Given the description of an element on the screen output the (x, y) to click on. 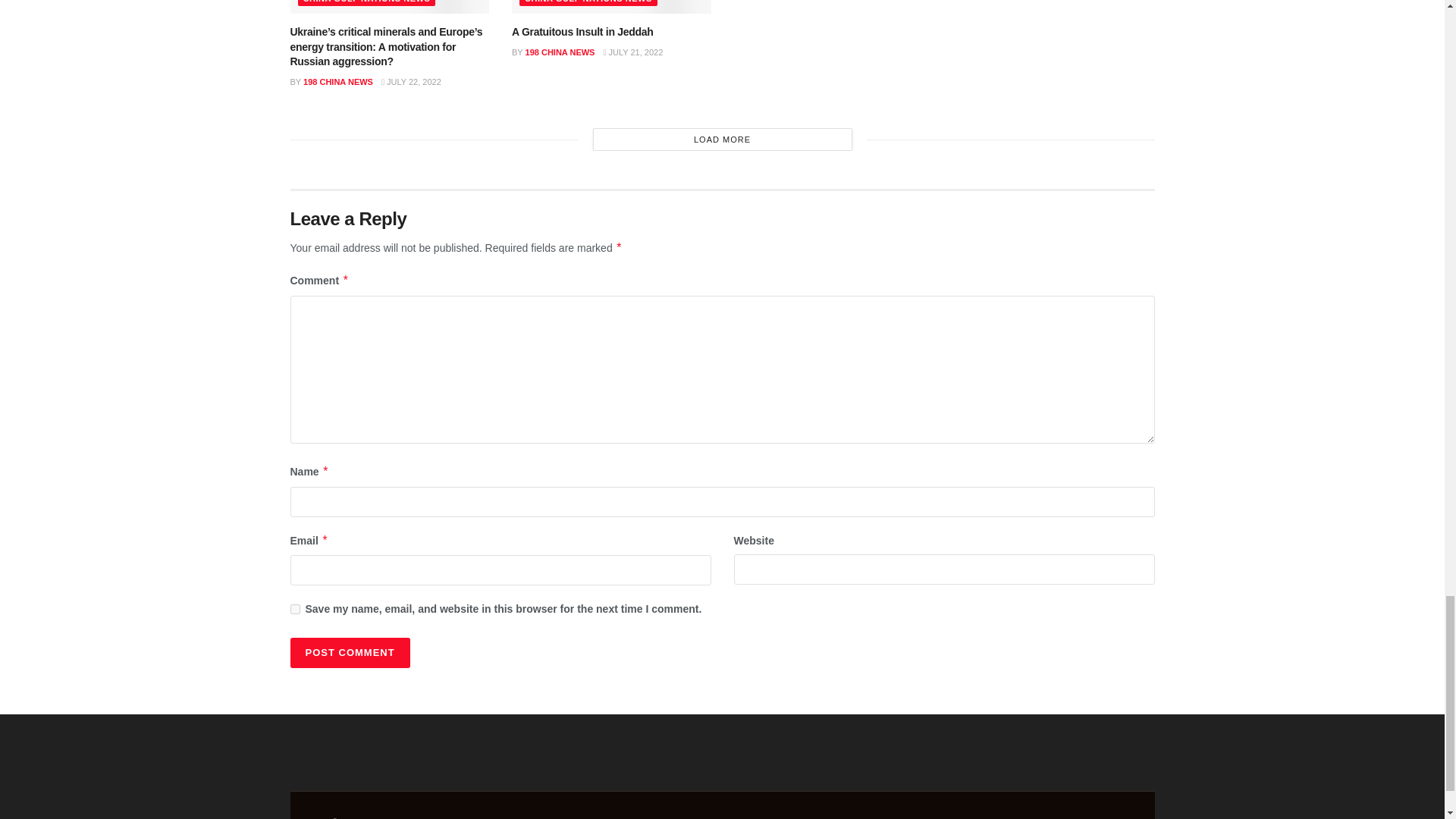
yes (294, 609)
Post Comment (349, 653)
198 China News (395, 818)
